Given the description of an element on the screen output the (x, y) to click on. 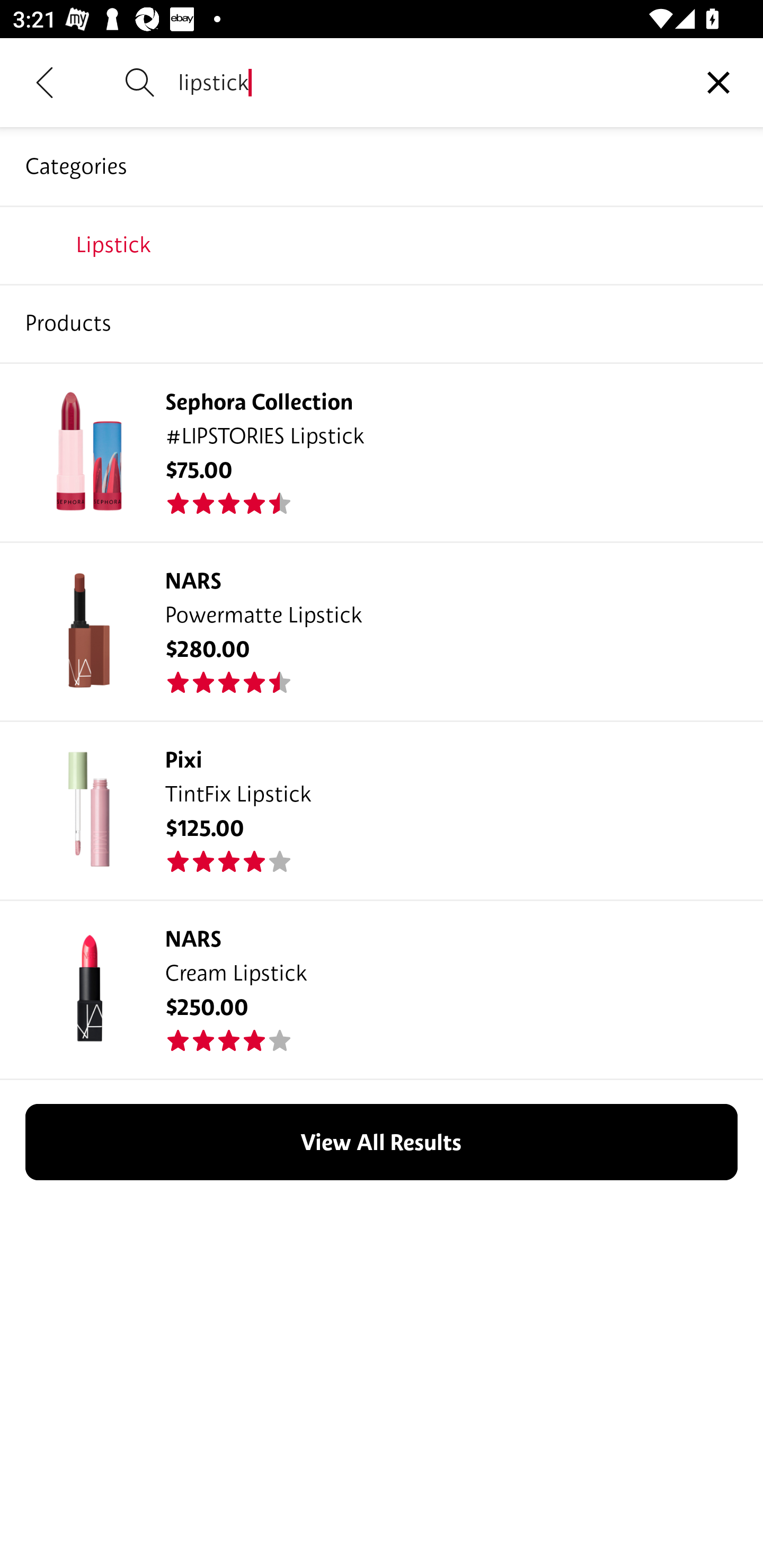
Navigate up (44, 82)
Clear query (718, 81)
lipstick (425, 82)
sephora collection (381, 244)
supergoop! (381, 322)
Product Image NARS Powermatte Lipstick $280.00 (381, 629)
Product Image Pixi TintFix Lipstick $125.00 (381, 809)
Product Image NARS Cream Lipstick $250.00 (381, 989)
View All Results (381, 1141)
